Given the description of an element on the screen output the (x, y) to click on. 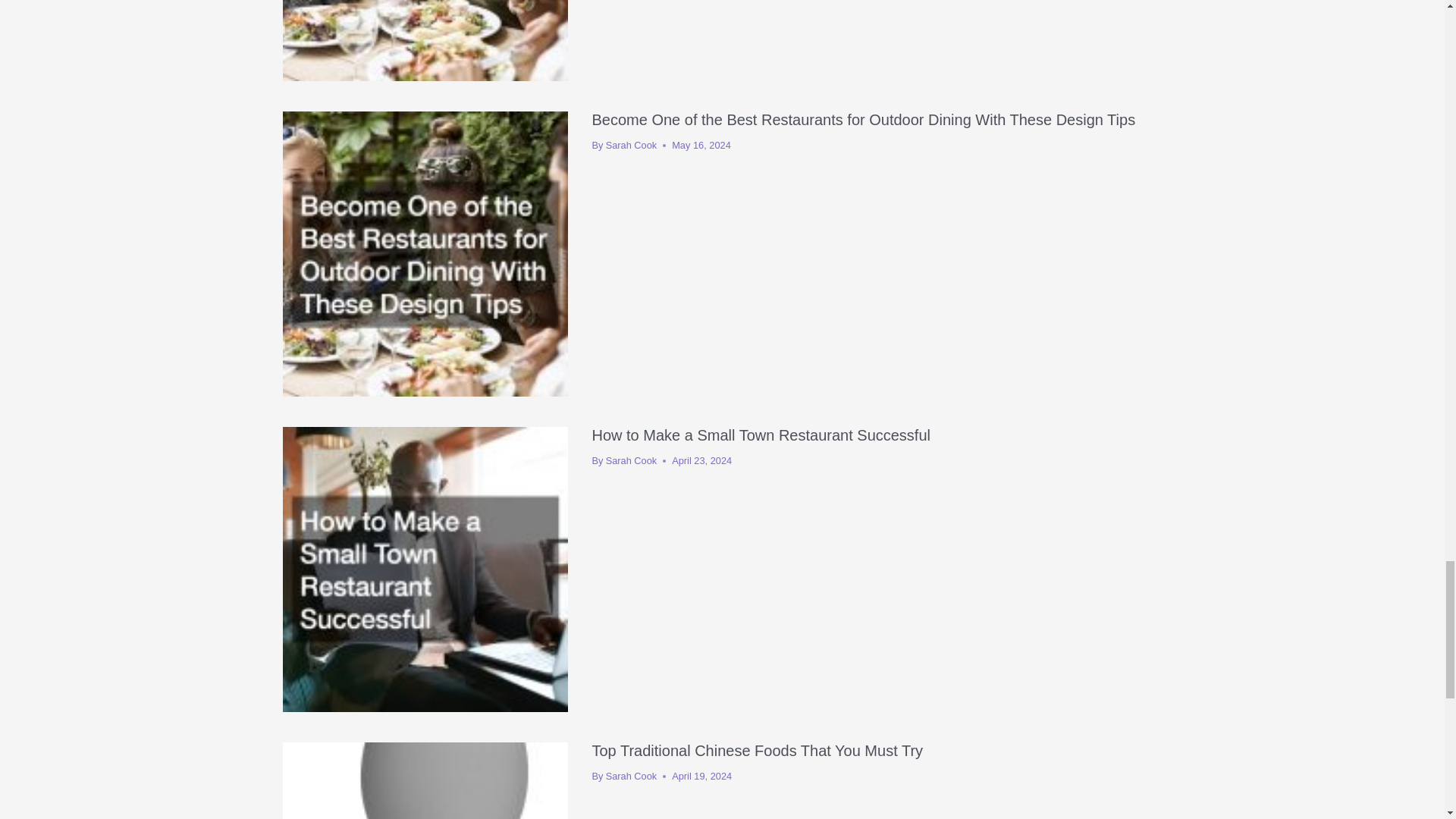
Top Traditional Chinese Foods That You Must Try (757, 750)
How to Make a Small Town Restaurant Successful (760, 434)
